Given the description of an element on the screen output the (x, y) to click on. 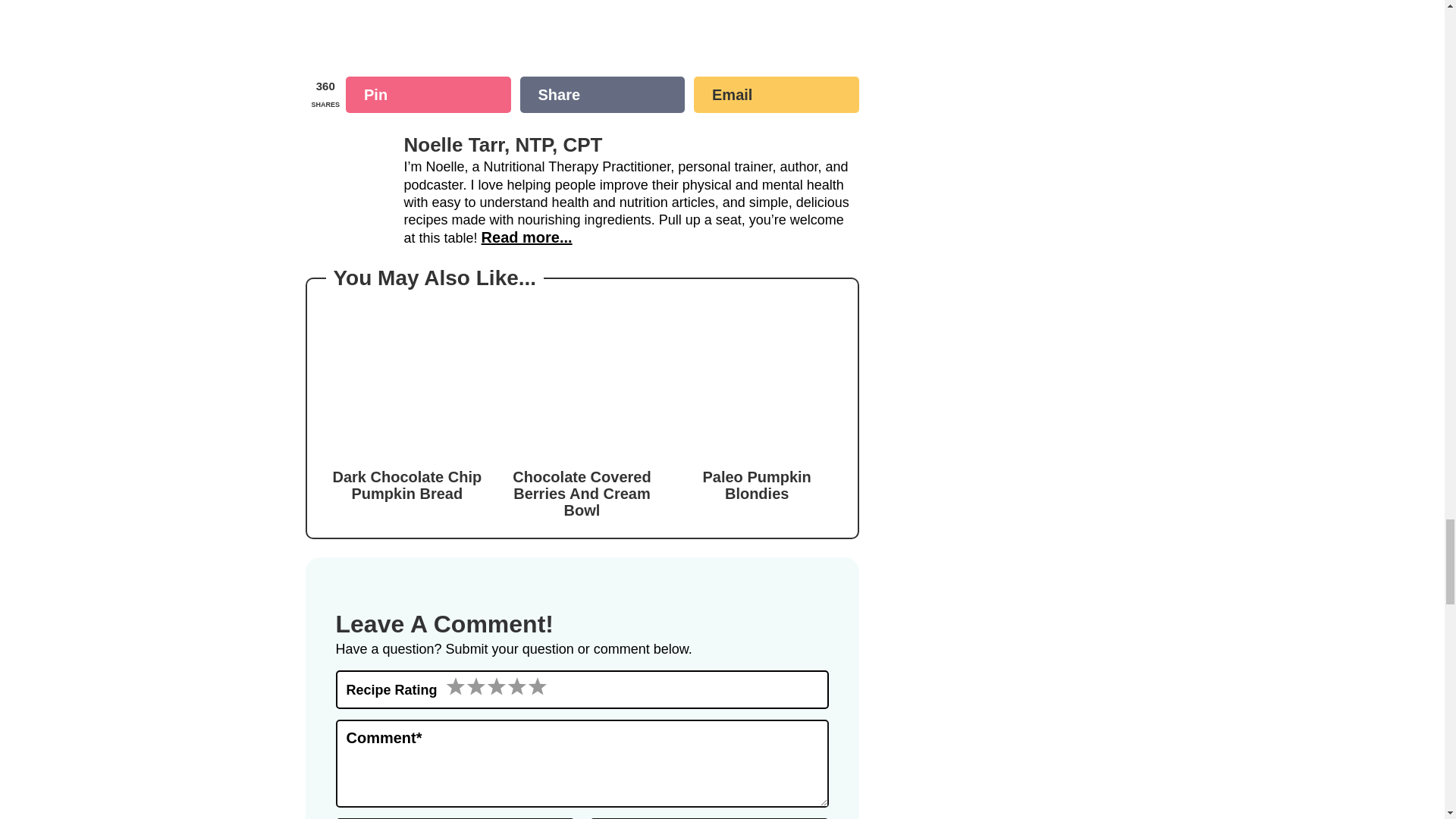
Save to Pinterest (428, 94)
Share on Facebook (602, 94)
Send over email (776, 94)
